Given the description of an element on the screen output the (x, y) to click on. 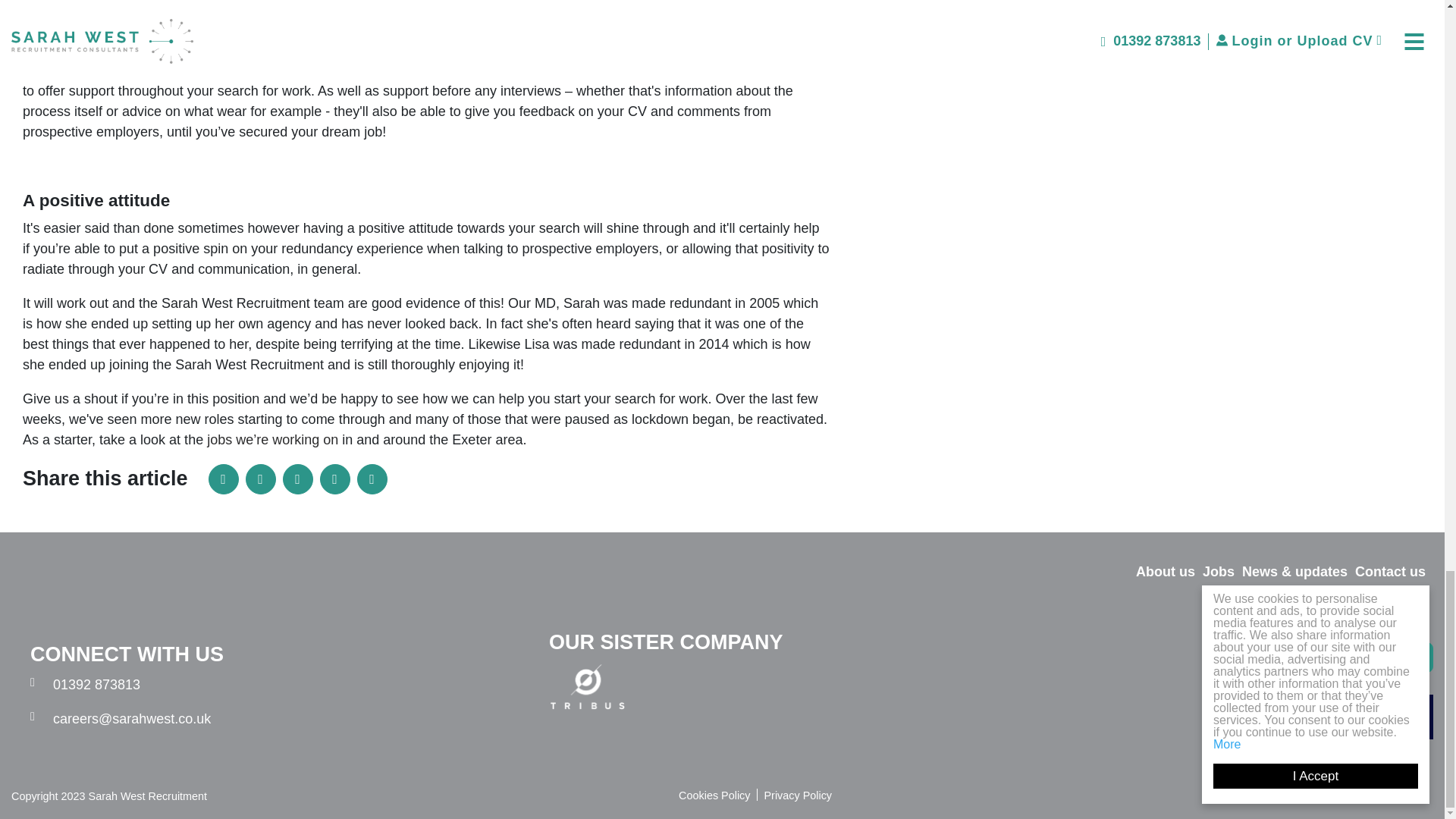
Email (335, 479)
Whatsapp (371, 479)
Jobs (1218, 571)
LinkedIn (223, 479)
About us (1165, 571)
Twitter (297, 479)
Contact us (1390, 571)
Facebook (261, 479)
